Given the description of an element on the screen output the (x, y) to click on. 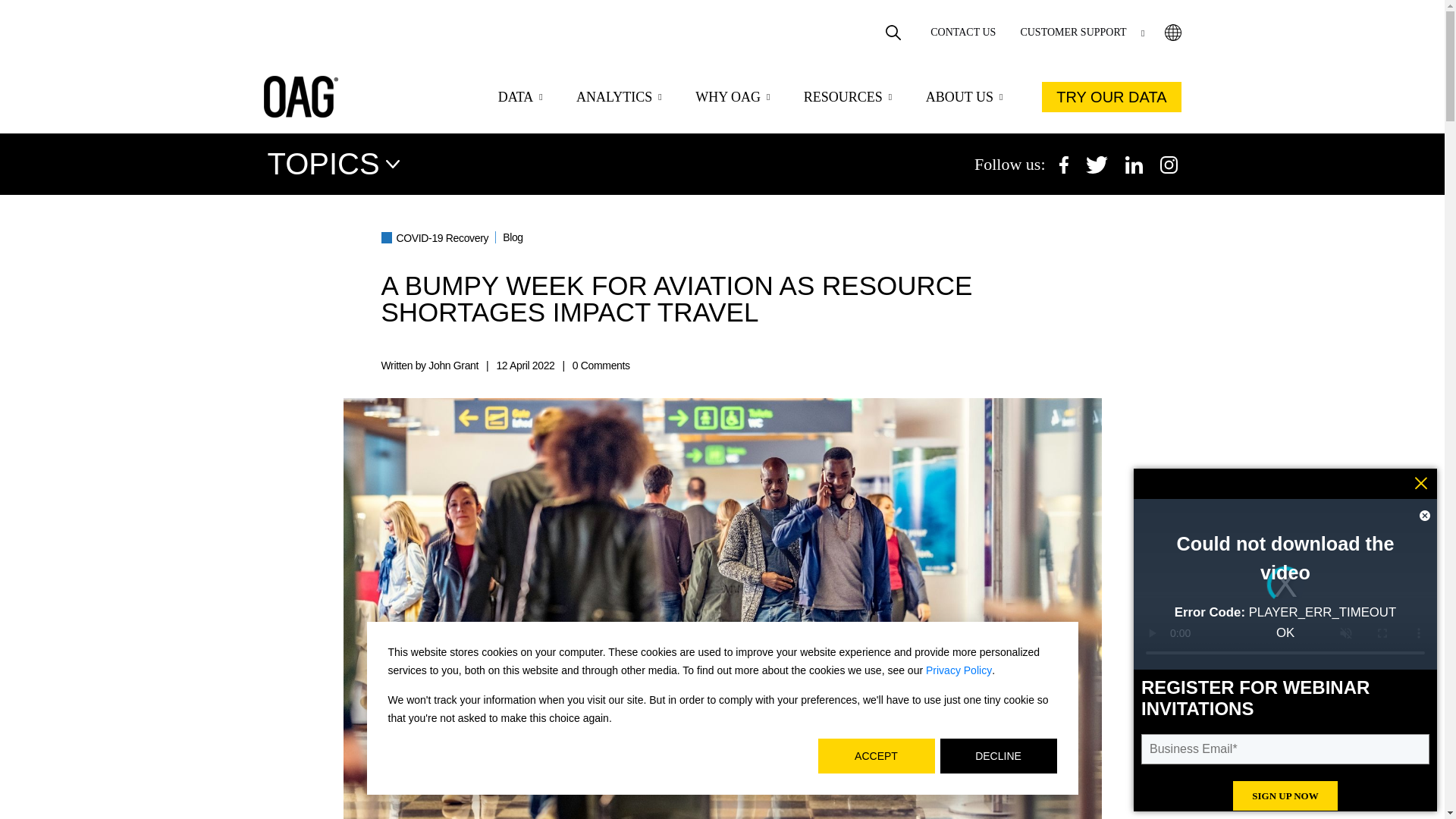
Privacy Policy (958, 670)
CUSTOMER SUPPORT (1082, 31)
CONTACT US (962, 31)
